Given the description of an element on the screen output the (x, y) to click on. 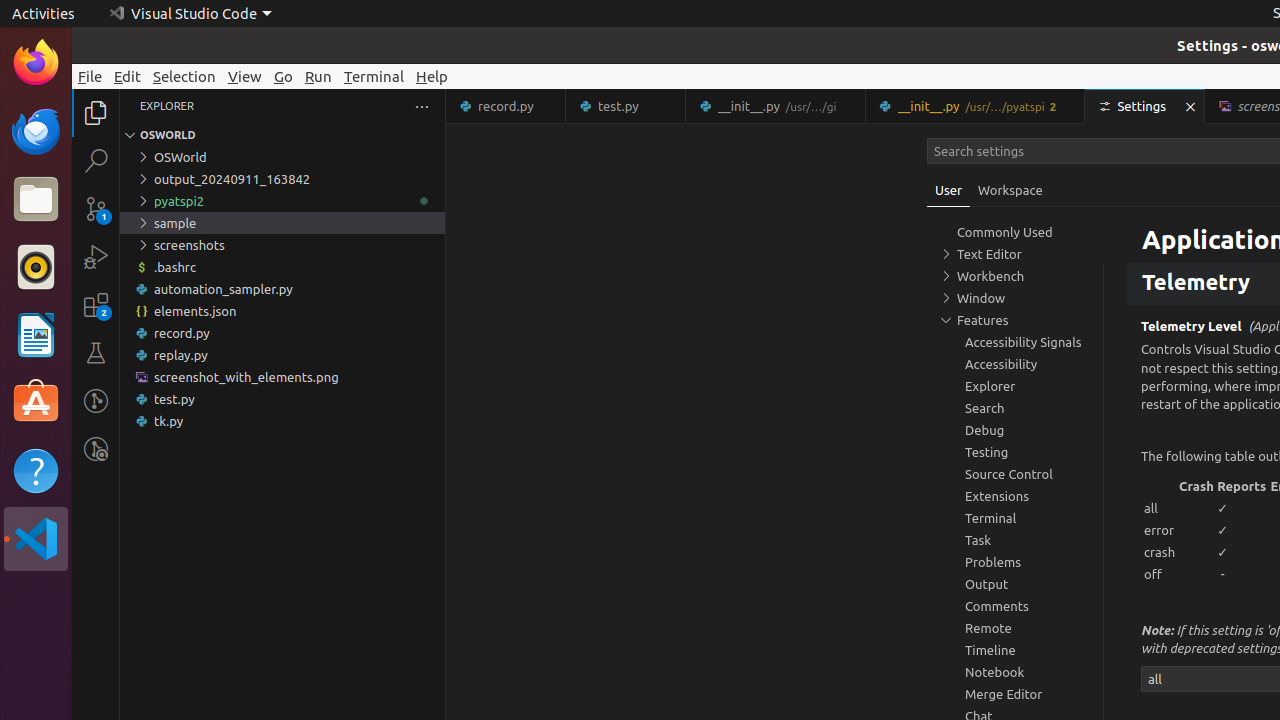
pyatspi2 Element type: tree-item (282, 201)
Testing Element type: page-tab (96, 353)
update.showReleaseNotes Element type: check-box (1150, 228)
Debug, group Element type: tree-item (1015, 430)
